Given the description of an element on the screen output the (x, y) to click on. 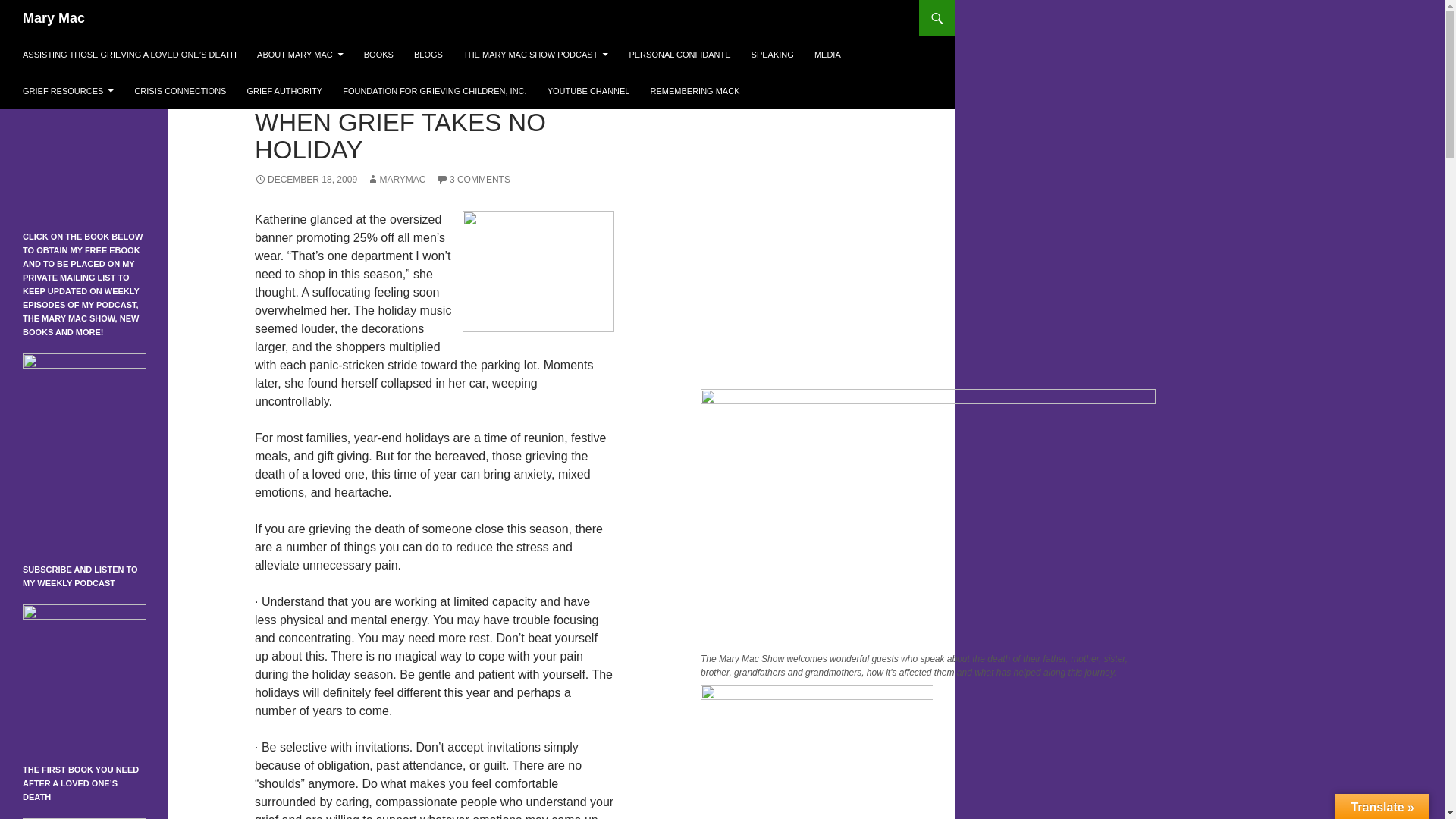
GRIEF AUTHORITY (284, 90)
BLOGS (427, 54)
BOOKS (379, 54)
SPEAKING (772, 54)
CRISIS CONNECTIONS (179, 90)
DECEMBER 18, 2009 (305, 179)
YOUTUBE CHANNEL (588, 90)
PERSONAL CONFIDANTE (679, 54)
FOUNDATION FOR GRIEVING CHILDREN, INC. (434, 90)
MARYMAC (395, 179)
